Given the description of an element on the screen output the (x, y) to click on. 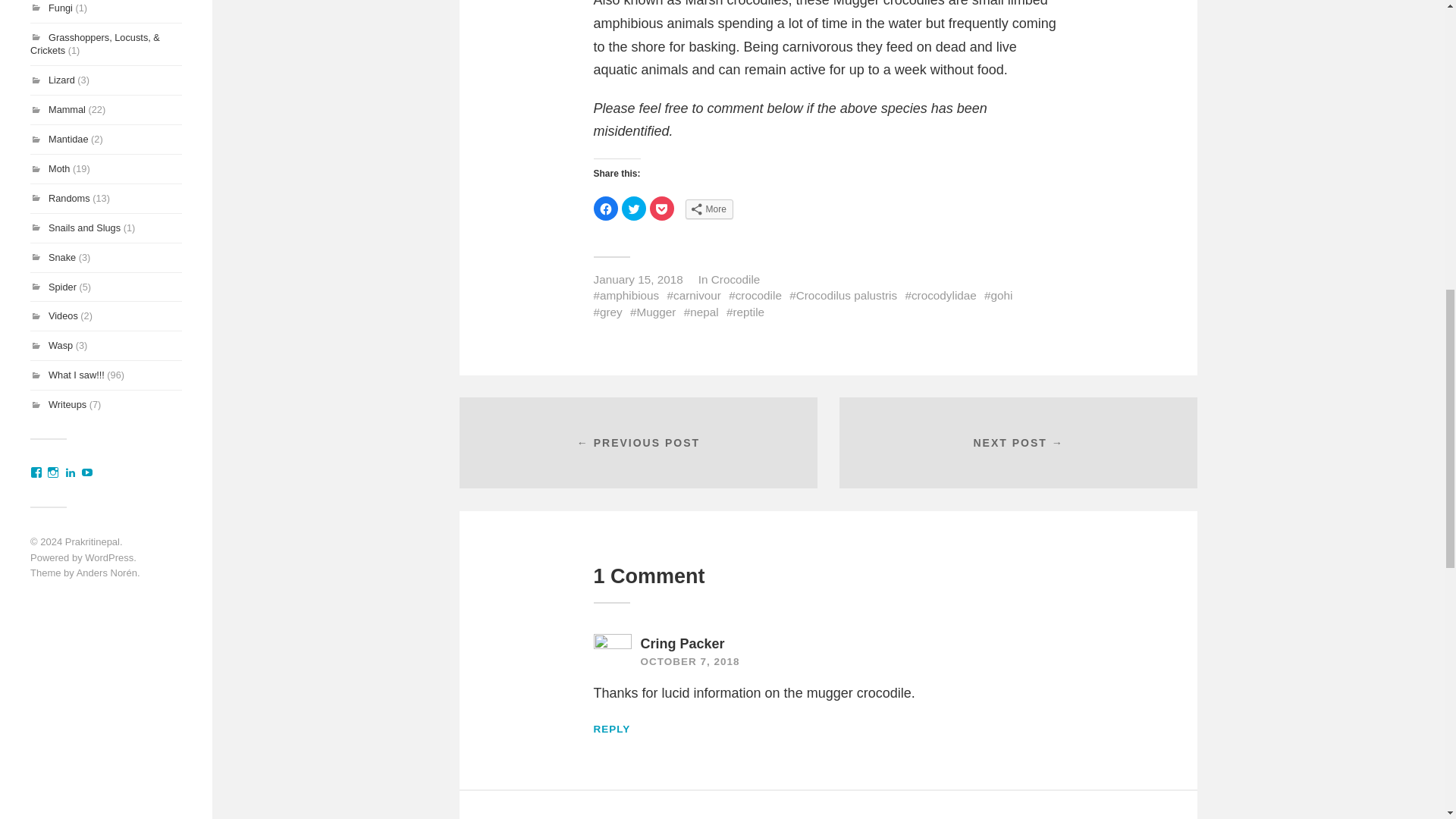
Snails and Slugs (84, 227)
Lizard (61, 79)
Mantidae (68, 138)
Click to share on Twitter (633, 208)
October 7, 2018 at 4:39 am (689, 661)
Click to share on Pocket (660, 208)
Randoms (69, 197)
Previous post:  (638, 442)
Fungi (60, 7)
